Given the description of an element on the screen output the (x, y) to click on. 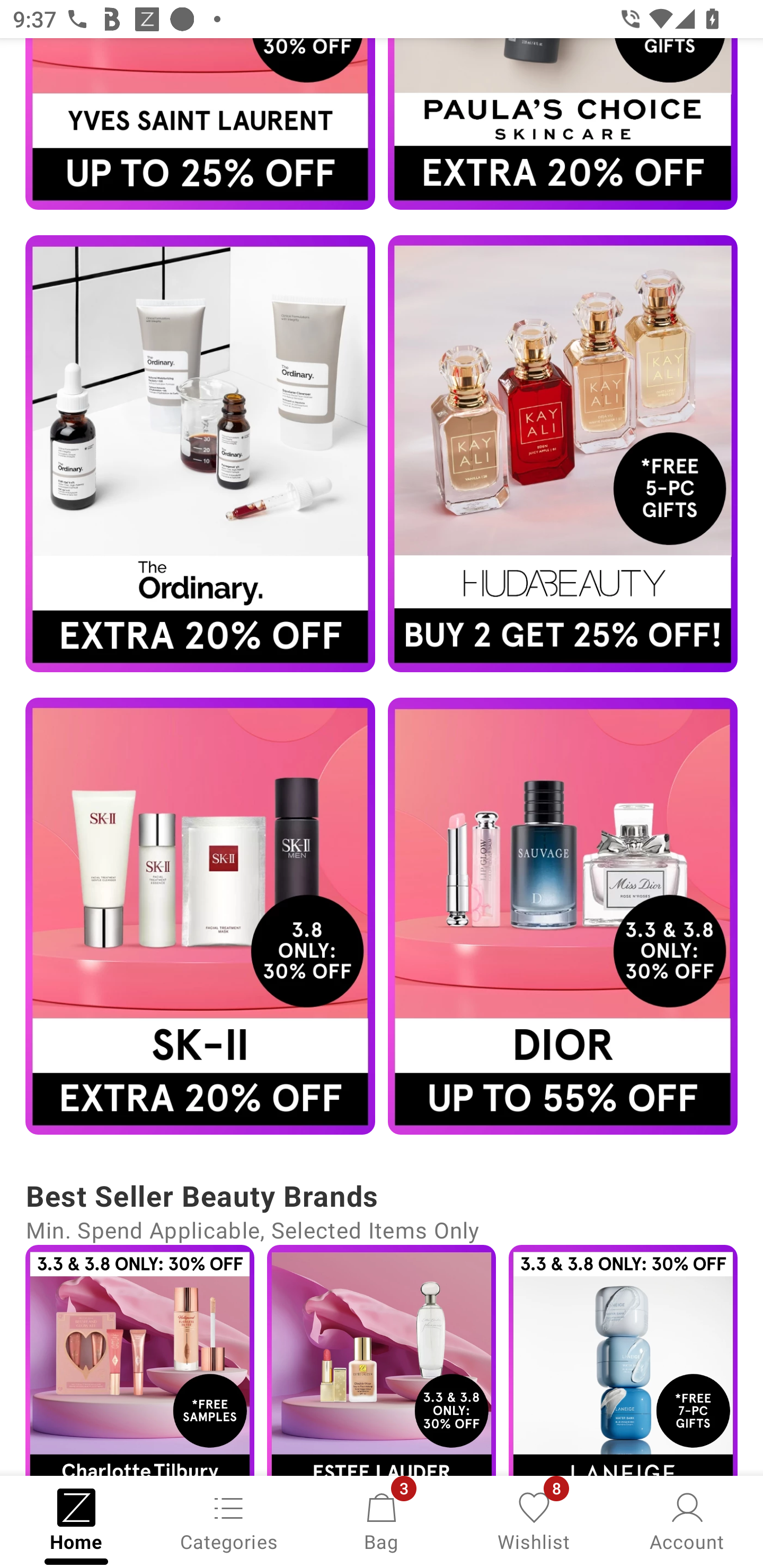
Campaign banner (200, 123)
Campaign banner (562, 123)
Campaign banner (200, 453)
Campaign banner (562, 453)
Campaign banner (200, 916)
Campaign banner (562, 916)
Campaign banner (139, 1359)
Campaign banner (381, 1359)
Campaign banner (622, 1359)
Categories (228, 1519)
Bag, 3 new notifications Bag (381, 1519)
Wishlist, 8 new notifications Wishlist (533, 1519)
Account (686, 1519)
